Given the description of an element on the screen output the (x, y) to click on. 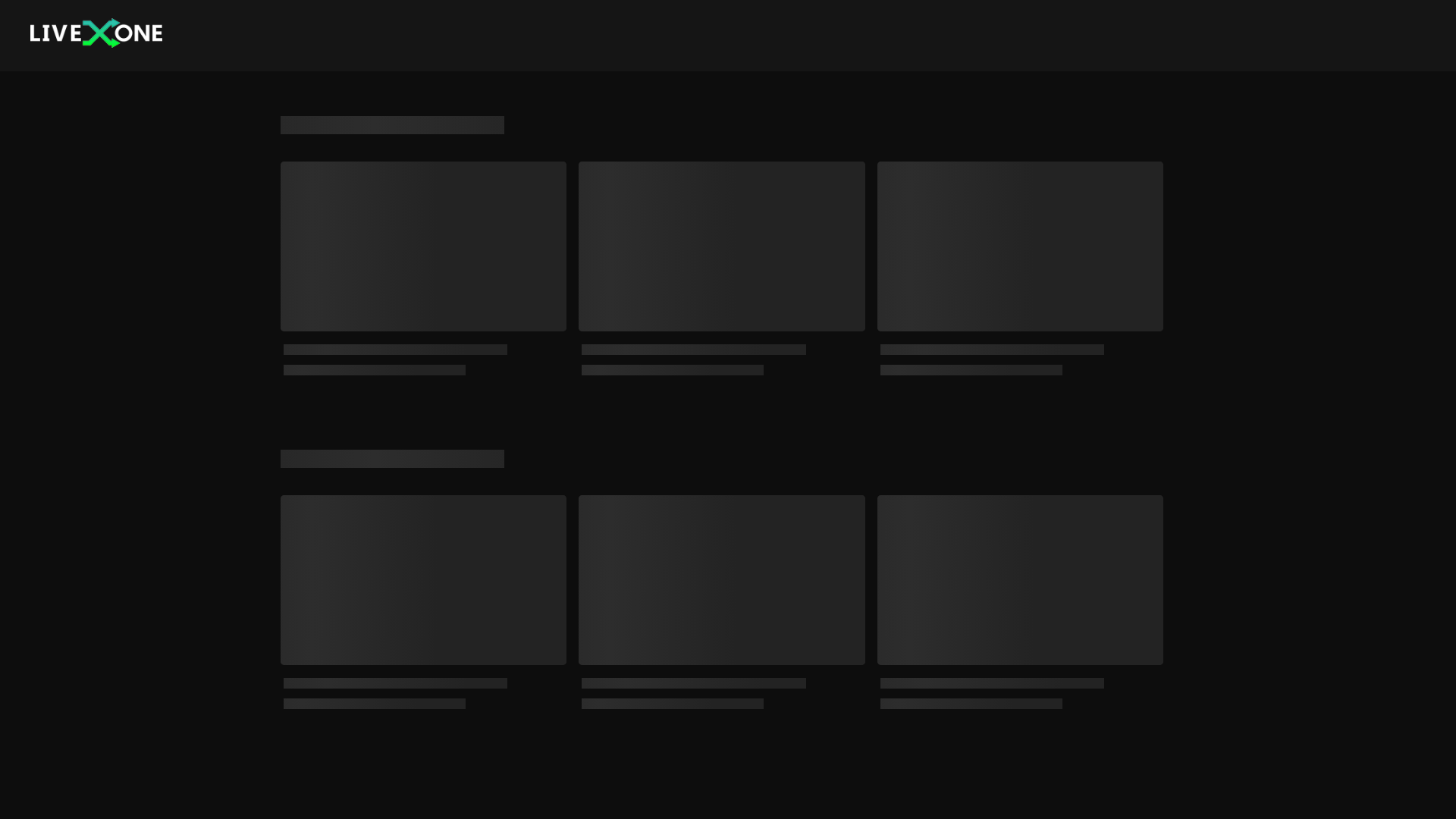
LiveOne on TikTok (1096, 781)
LiveOne on Instagram (1072, 781)
LiveOne on X (1144, 781)
LiveOne on YouTube (1120, 781)
LiveOne on Facebook (1167, 781)
